Given the description of an element on the screen output the (x, y) to click on. 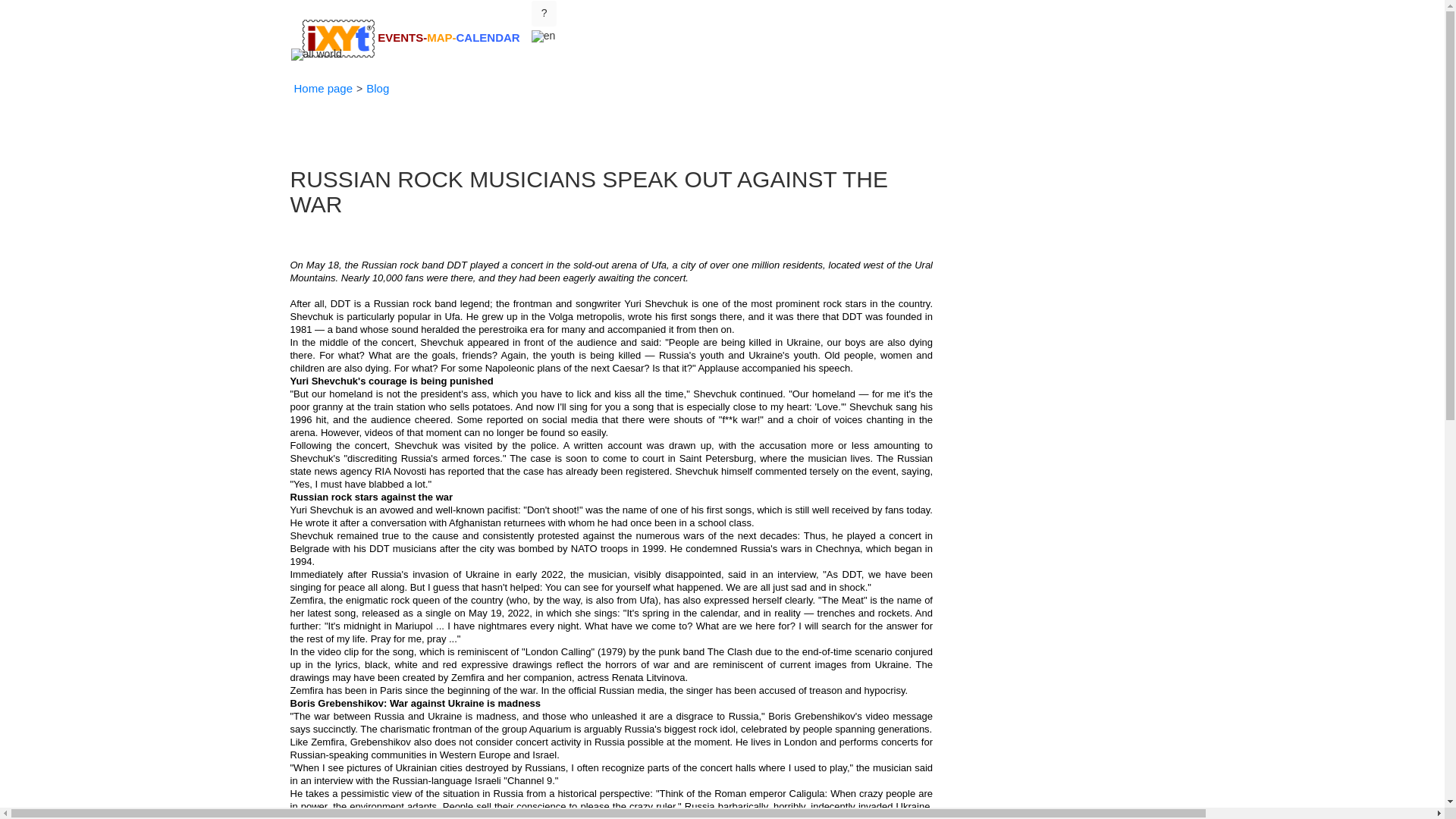
Blog (377, 88)
EVENTS-MAP-CALENDAR (411, 19)
Home page (323, 88)
? (544, 13)
